Given the description of an element on the screen output the (x, y) to click on. 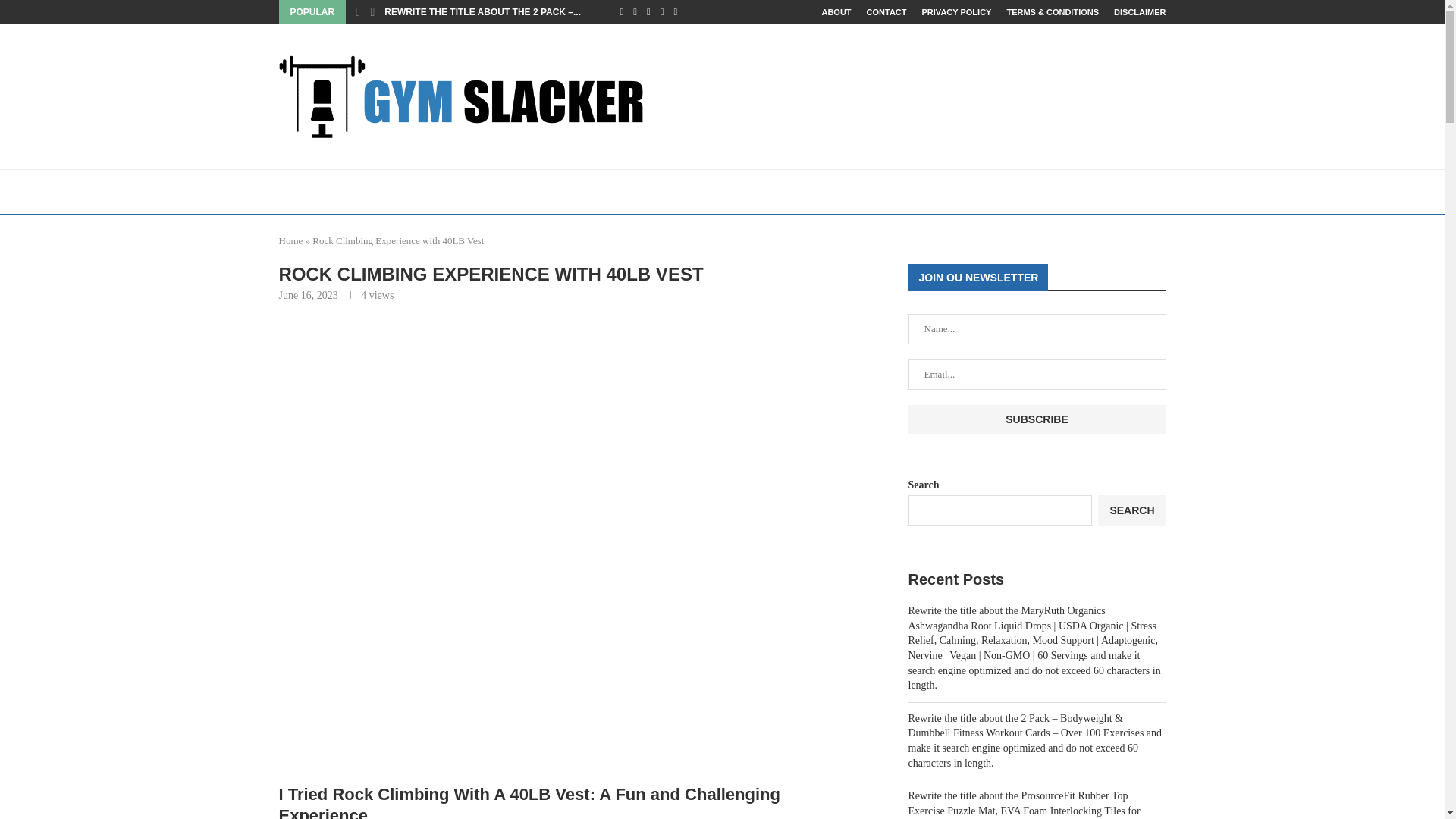
ABOUT (835, 12)
PRIVACY POLICY (956, 12)
CONTACT (886, 12)
REWRITE THE TITLE ABOUT THE MARYRUTH ORGANICS ASHWAGANDHA... (233, 12)
TRAINING (304, 191)
Subscribe (1037, 419)
DISCLAIMER (1139, 12)
